Given the description of an element on the screen output the (x, y) to click on. 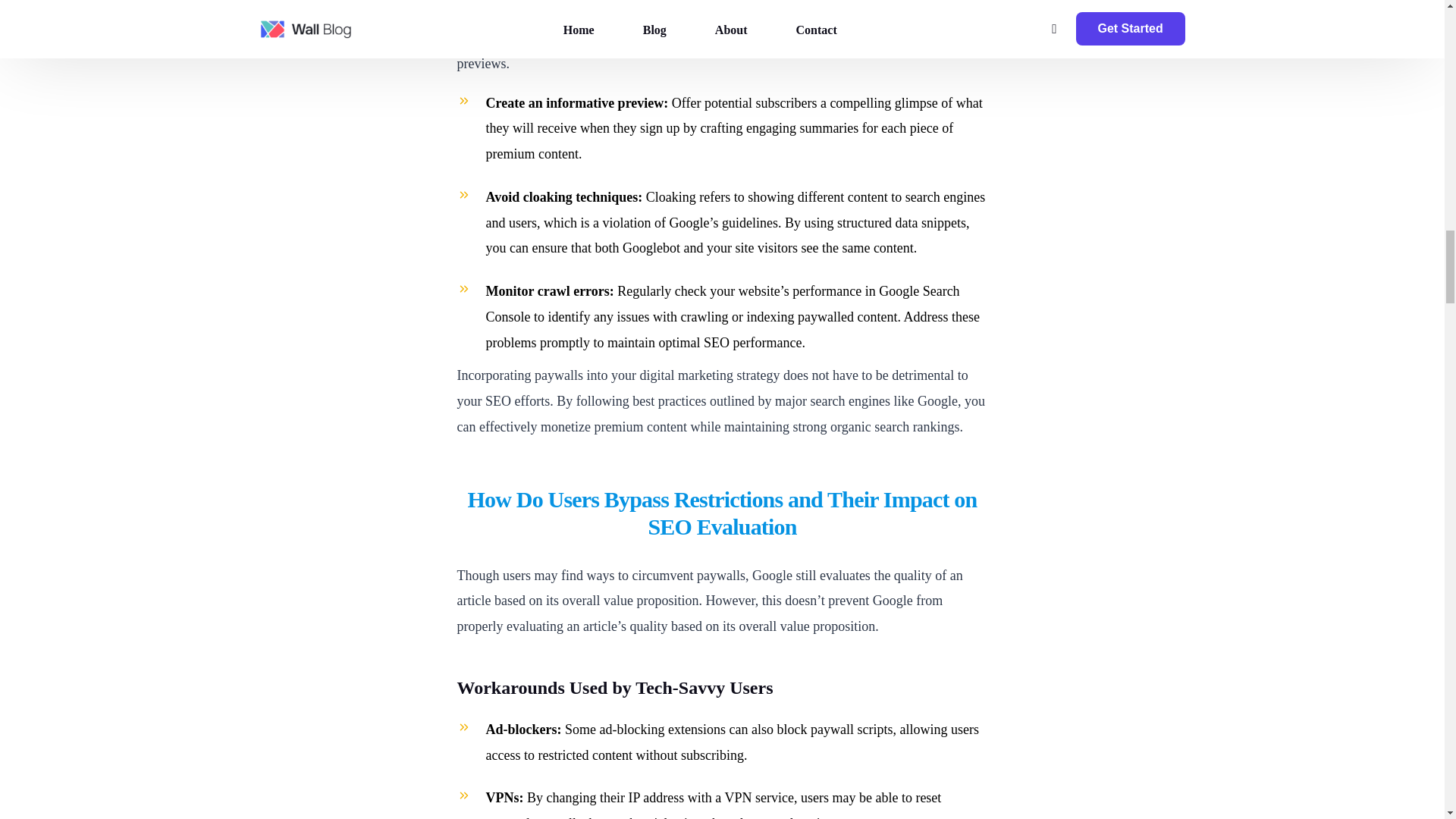
Google Search Console (721, 303)
